Given the description of an element on the screen output the (x, y) to click on. 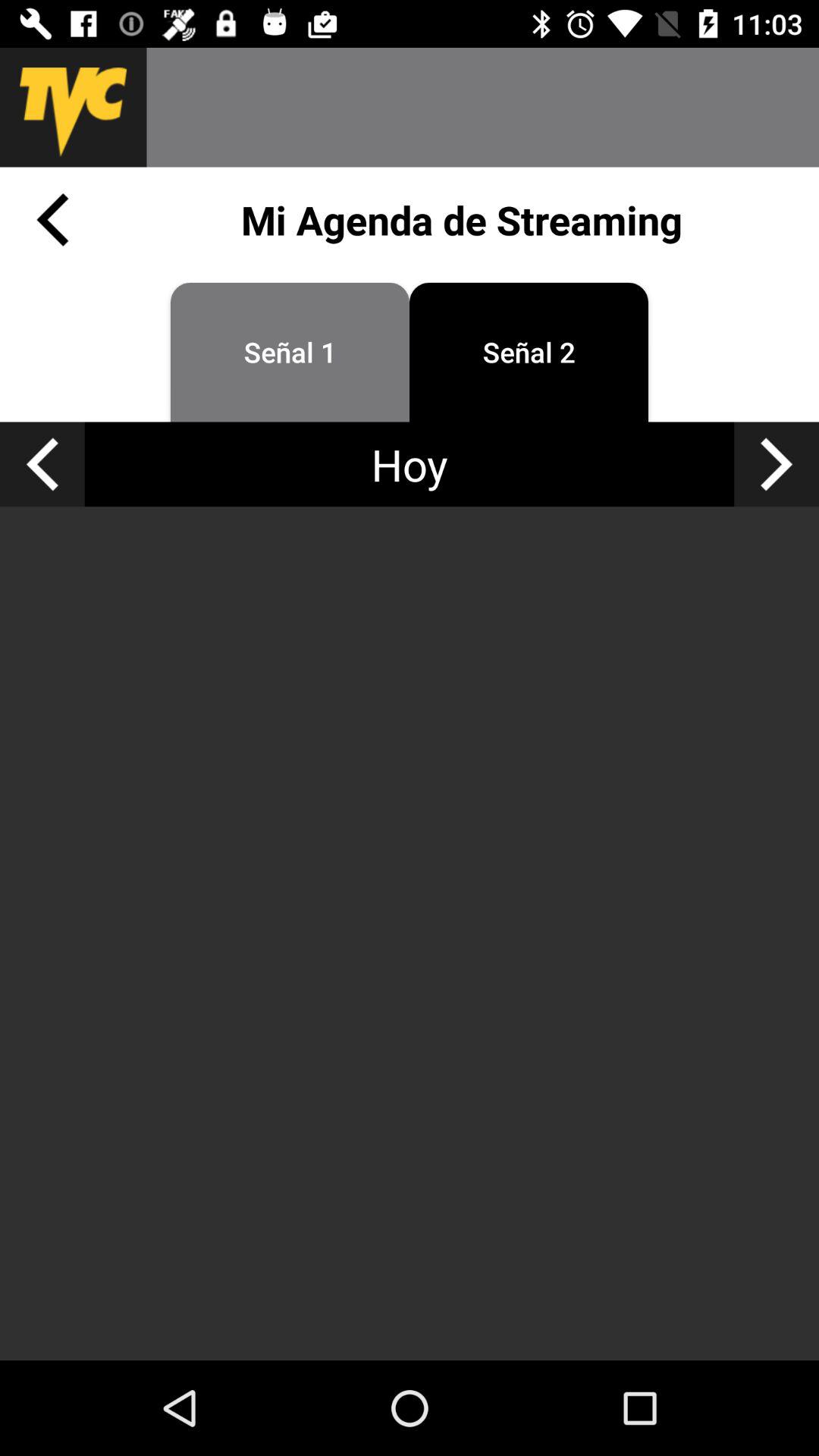
turn off item to the left of mi agenda de app (52, 219)
